Given the description of an element on the screen output the (x, y) to click on. 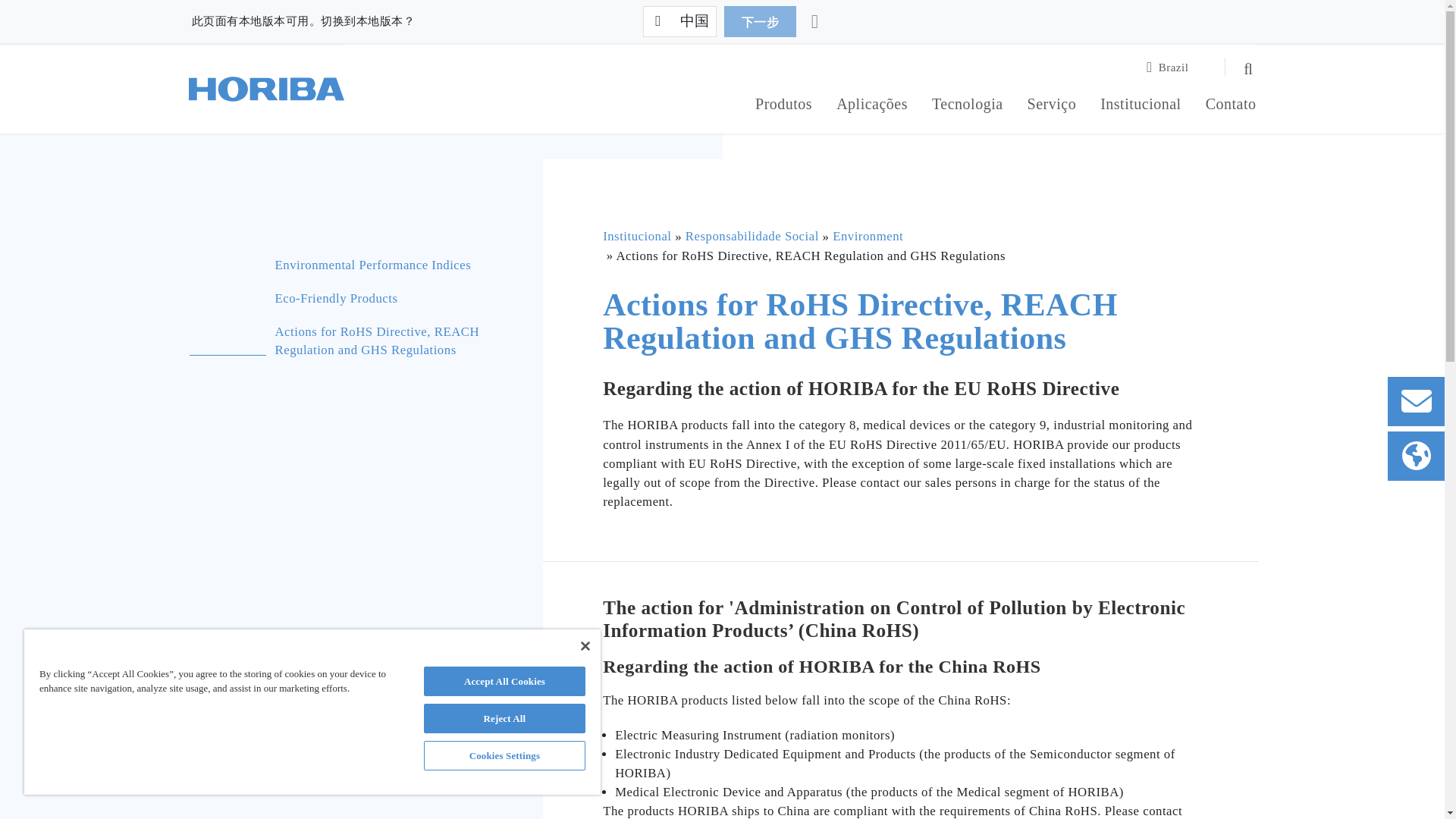
Institucional (1140, 106)
Produtos (783, 106)
Brazil (1176, 66)
Produtos (783, 106)
Tecnologia (967, 106)
Contato (1230, 106)
HORIBA (265, 88)
